Given the description of an element on the screen output the (x, y) to click on. 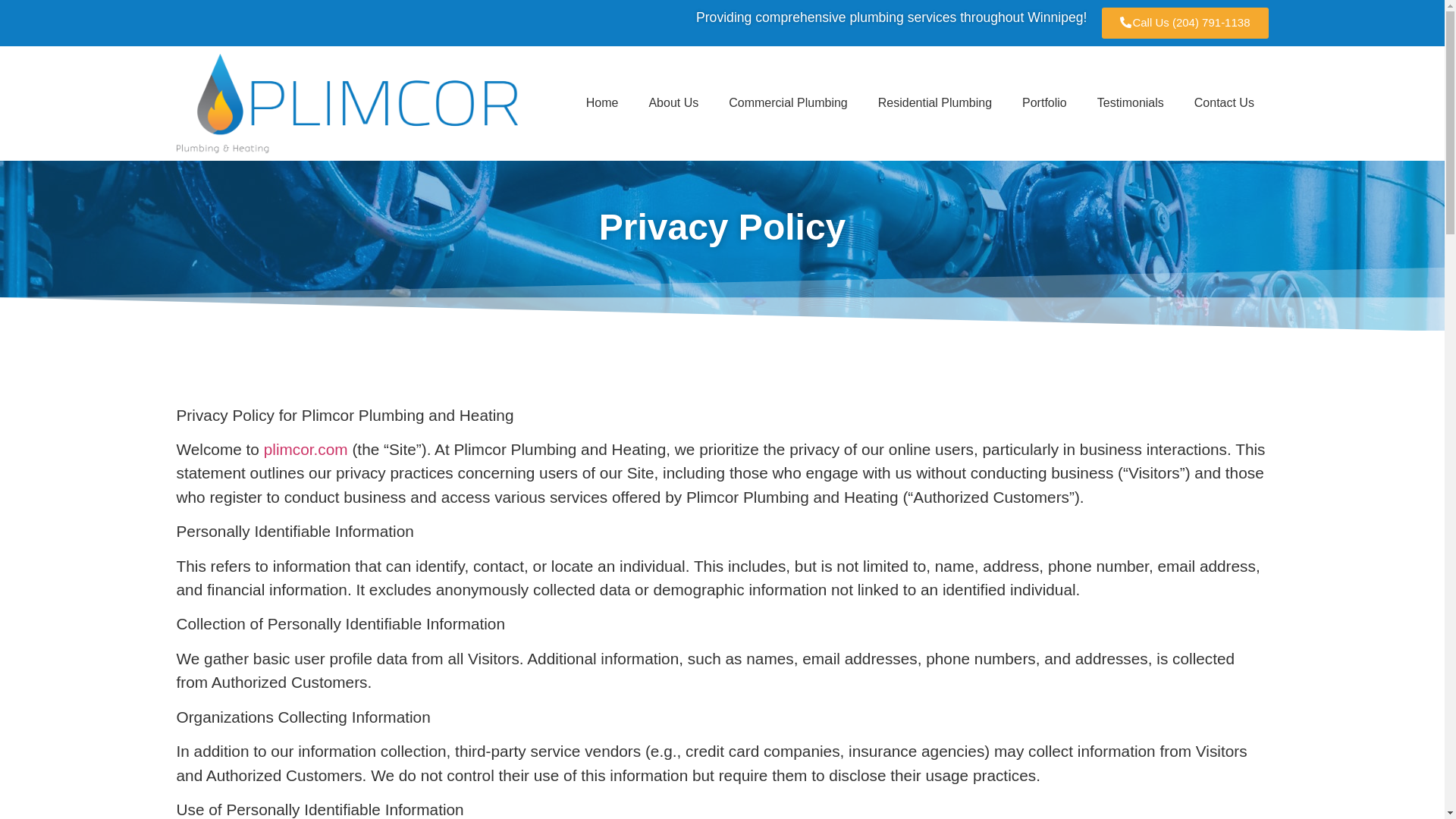
Residential Plumbing (935, 102)
Portfolio (1044, 102)
Commercial Plumbing (788, 102)
plimcor.com (305, 448)
Testimonials (1130, 102)
Home (601, 102)
Contact Us (1224, 102)
About Us (673, 102)
